Given the description of an element on the screen output the (x, y) to click on. 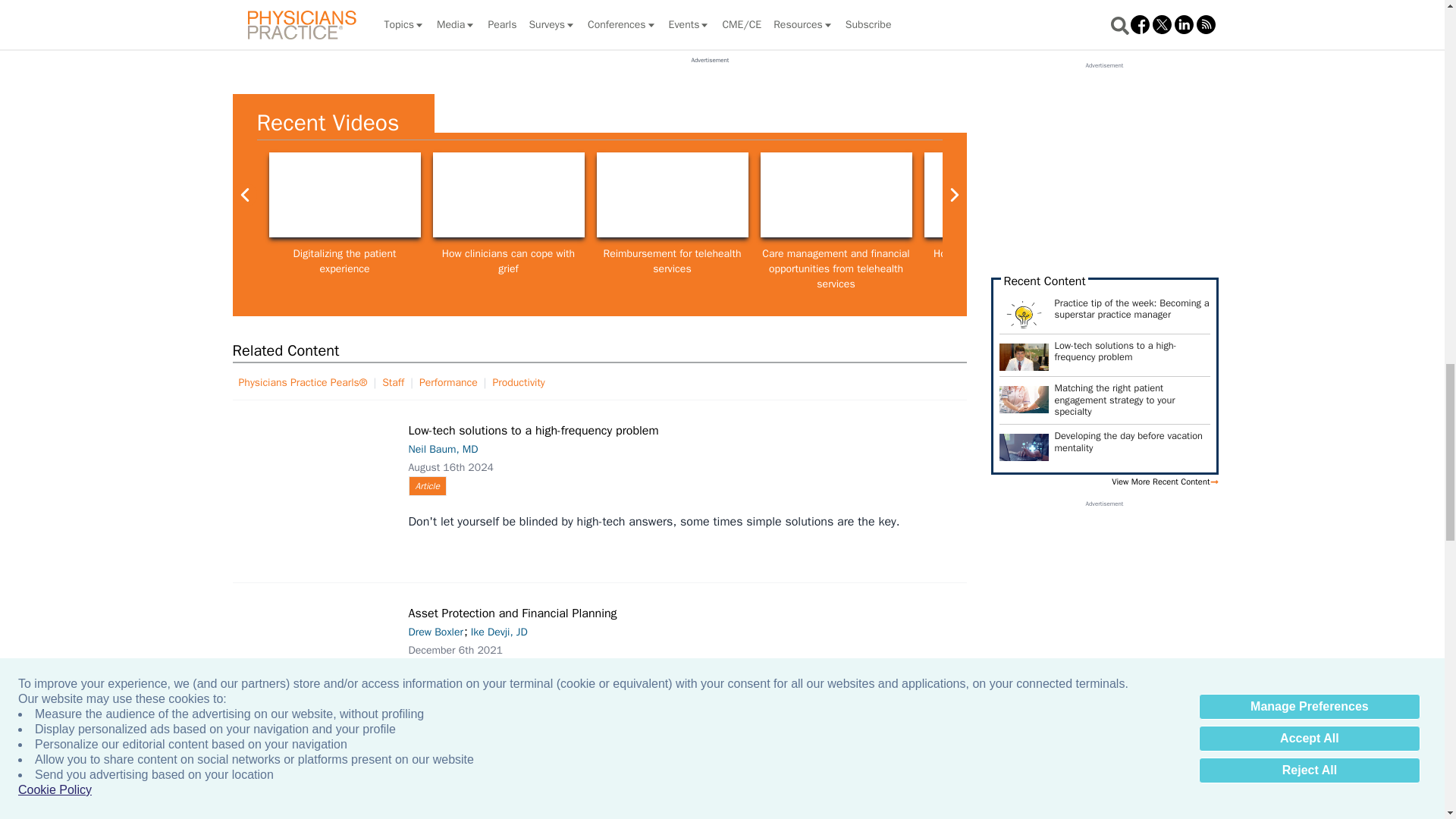
Dana Sterling gives expert advice (1163, 194)
Stephanie Queen gives expert advice (507, 194)
Dr. Janis Coffin gives expert advice (671, 194)
Dana Sterling gives expert advice  (1326, 194)
Janis Coffin, DO (835, 194)
